Given the description of an element on the screen output the (x, y) to click on. 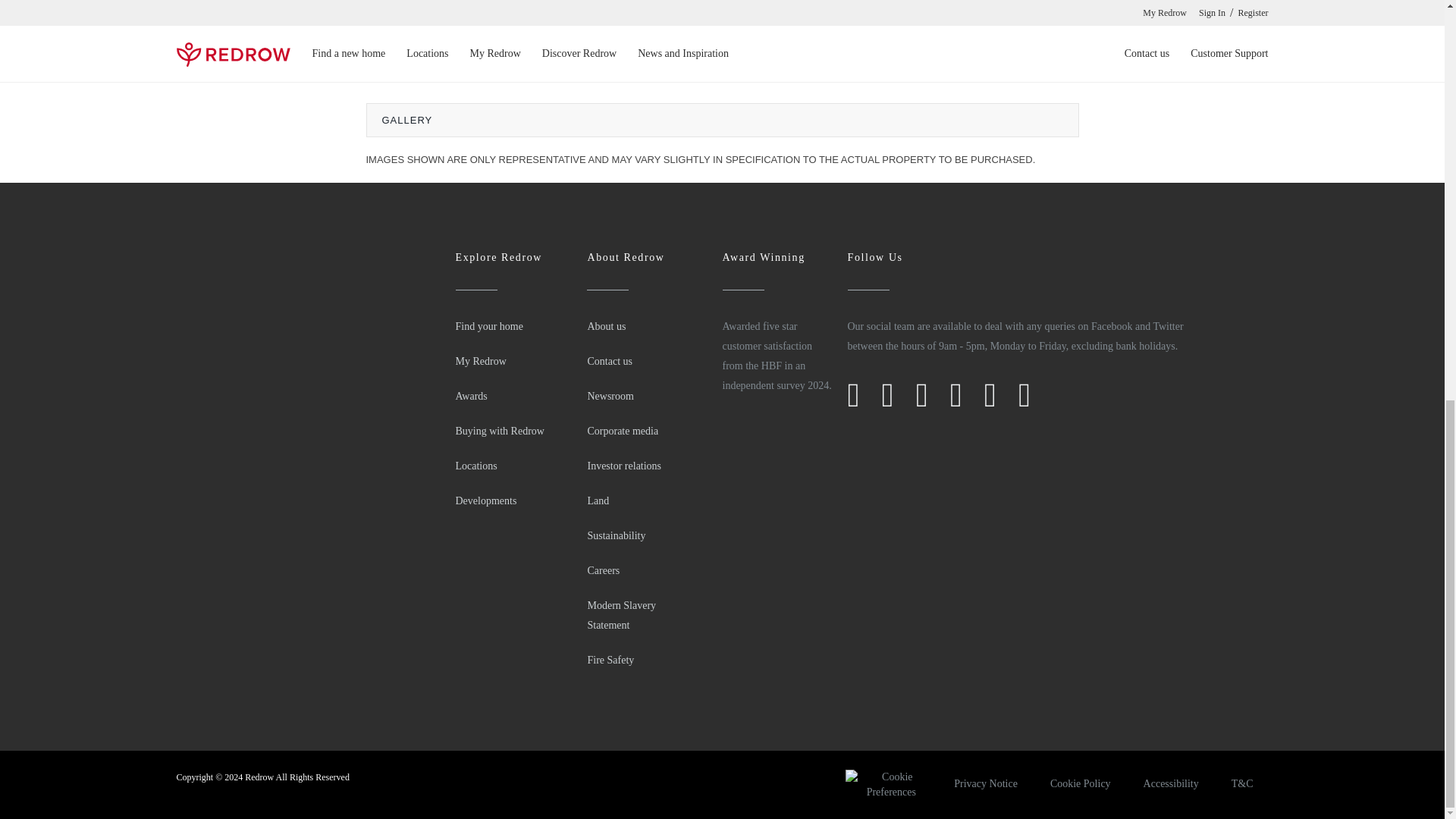
Awards (470, 396)
About Us (606, 326)
Media Centre (609, 396)
Locations (475, 465)
Find your home (488, 326)
My Redrow (479, 360)
Buying with Redrow (498, 430)
Sustainability (615, 535)
Developments (485, 500)
Email a friend (879, 58)
